Given the description of an element on the screen output the (x, y) to click on. 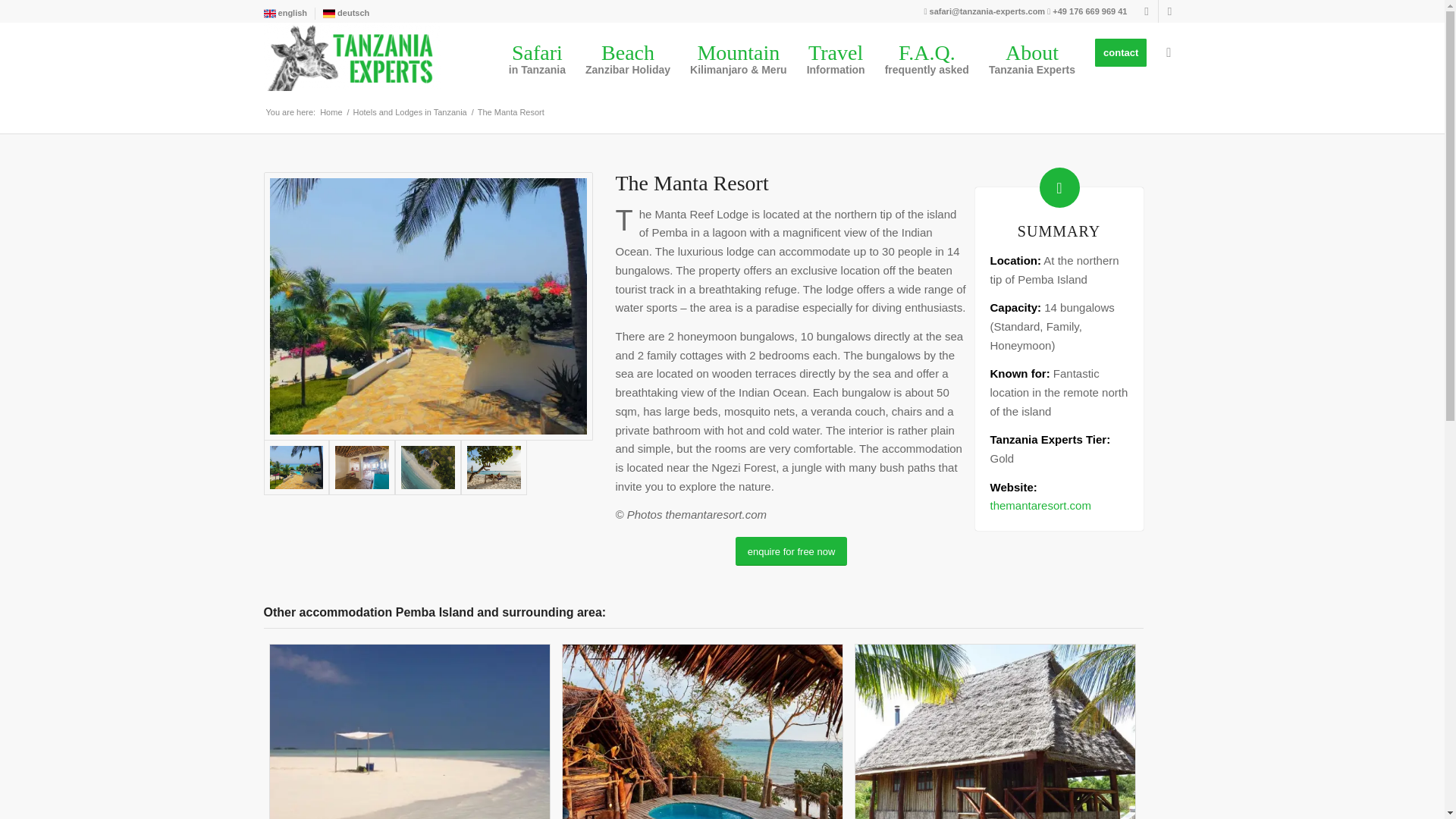
Tanzania Experts (330, 112)
The Manta Resort bird's eye view (427, 467)
Facebook (1169, 11)
The Manta Resort Bungalow Interior (361, 467)
deutsch (627, 52)
Instagram (346, 12)
english (1146, 11)
Hotels and Lodges in Tanzania (537, 52)
